Given the description of an element on the screen output the (x, y) to click on. 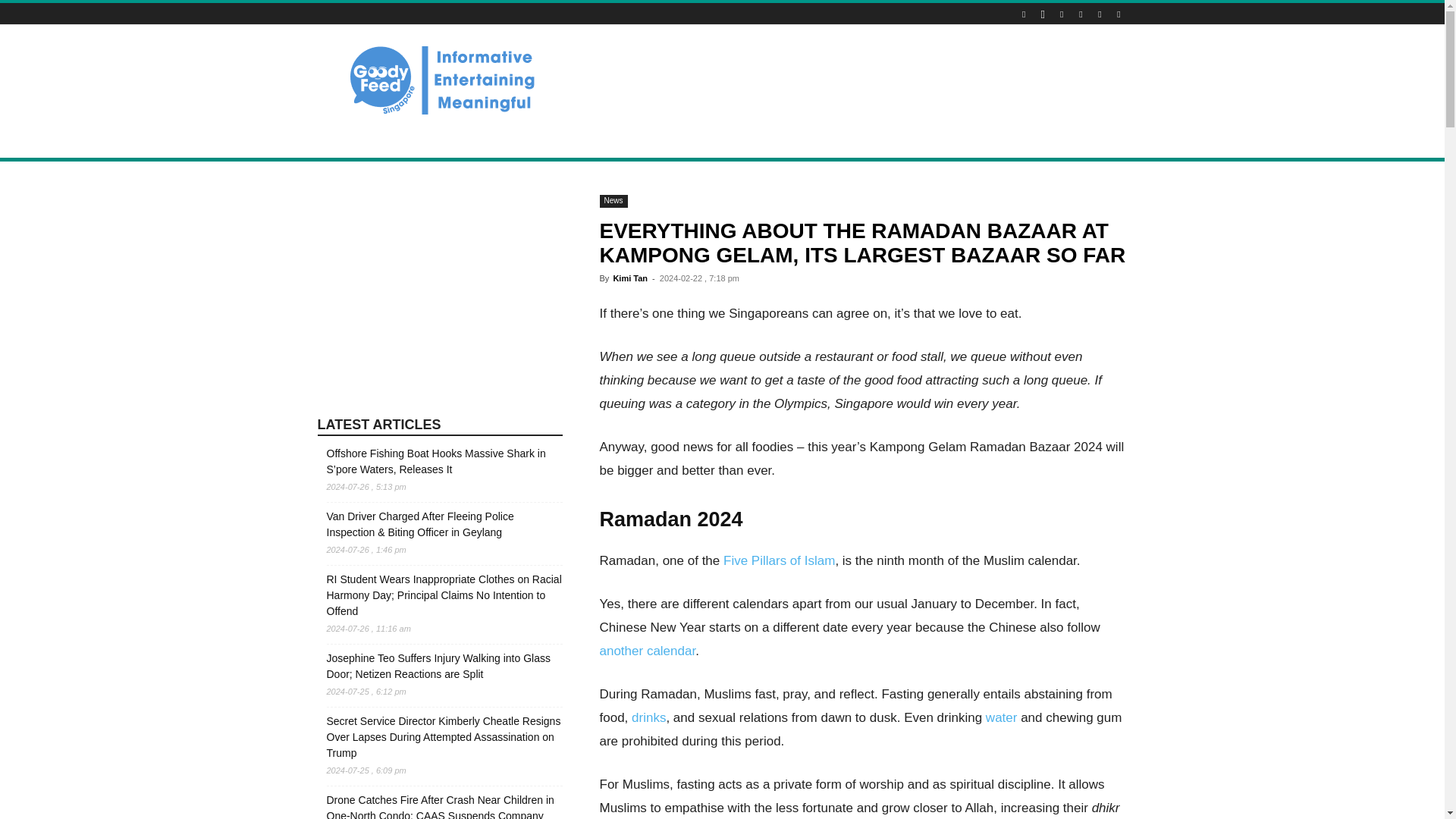
FOOD (511, 139)
TECH (776, 139)
SPOOKS (724, 139)
ENTERTAINMENT (584, 139)
Youtube (1117, 14)
NEWS (341, 139)
TikTok (1080, 14)
WORK (824, 139)
DEALS (461, 139)
LIFESTYLE (400, 139)
Linkedin (1061, 14)
Instagram (1042, 14)
Twitter (1099, 14)
LAUGHS (663, 139)
Facebook (1023, 14)
